Given the description of an element on the screen output the (x, y) to click on. 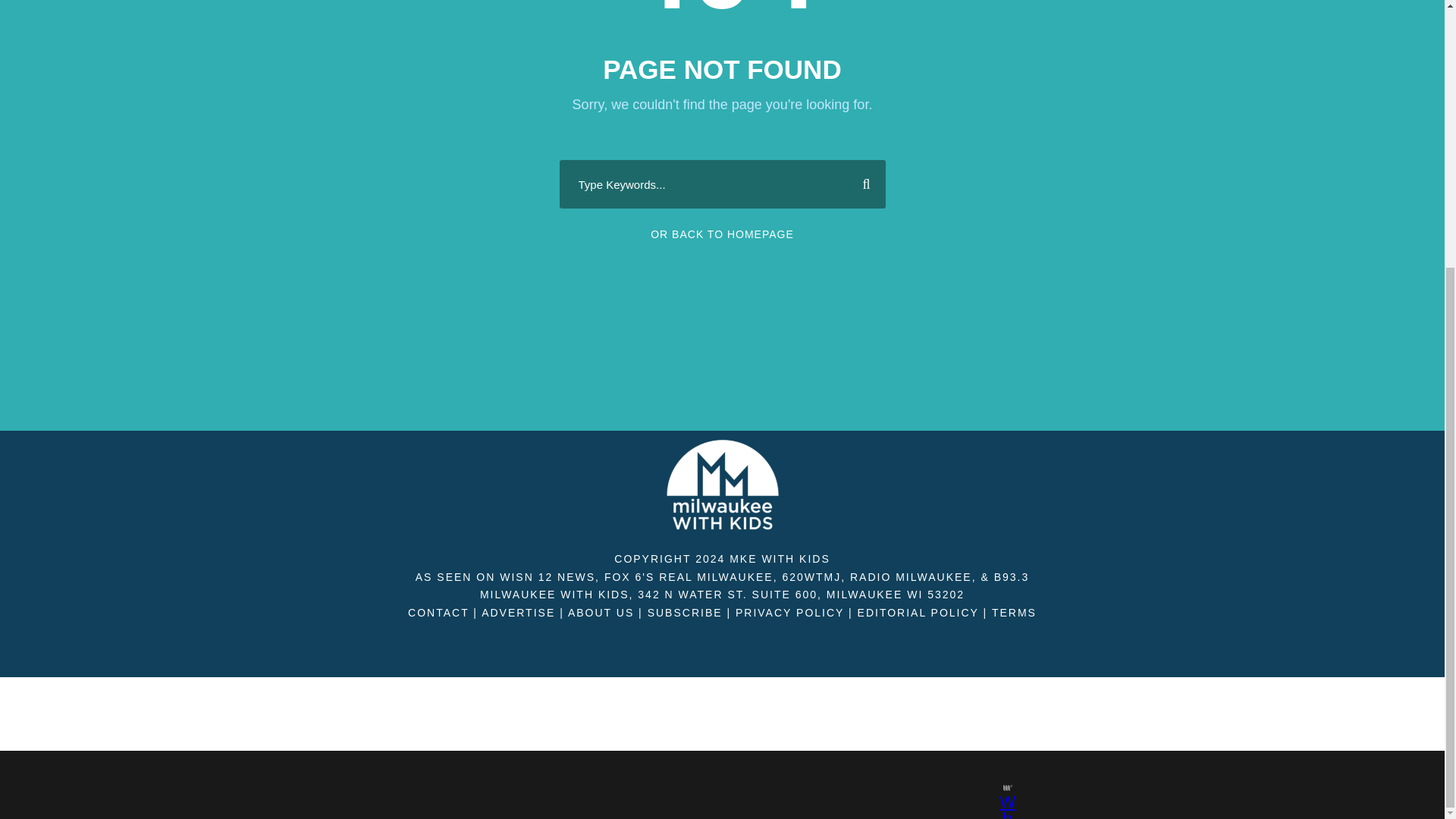
SUBSCRIBE (684, 612)
CONTACT (437, 612)
Search (860, 183)
TERMS (1013, 612)
EDITORIAL POLICY (917, 612)
OR BACK TO HOMEPAGE (721, 234)
PRIVACY POLICY (789, 612)
ADVERTISE (517, 612)
ABOUT US (600, 612)
3rd party ad content (708, 396)
